Given the description of an element on the screen output the (x, y) to click on. 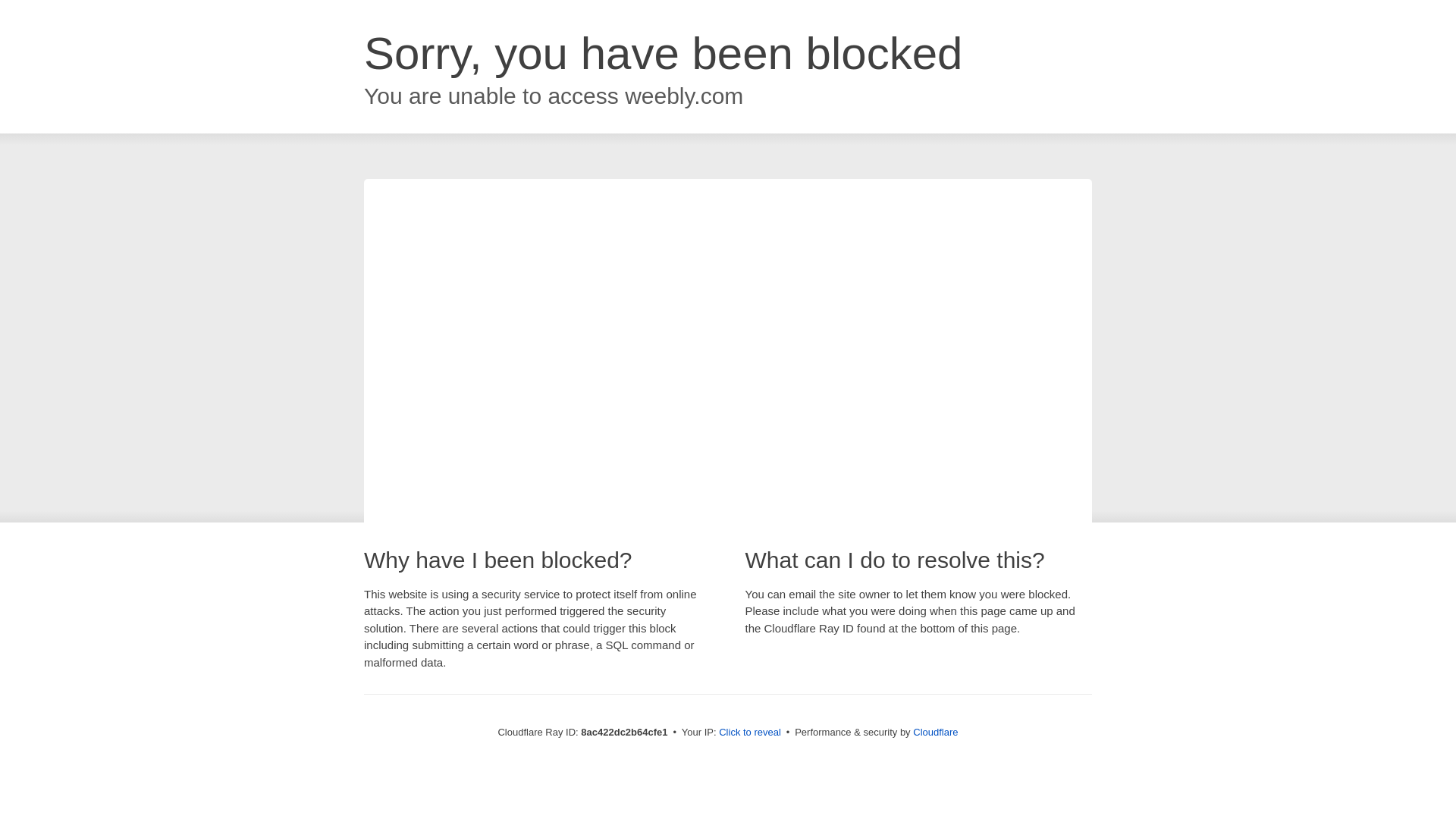
Cloudflare (935, 731)
Click to reveal (749, 732)
